Given the description of an element on the screen output the (x, y) to click on. 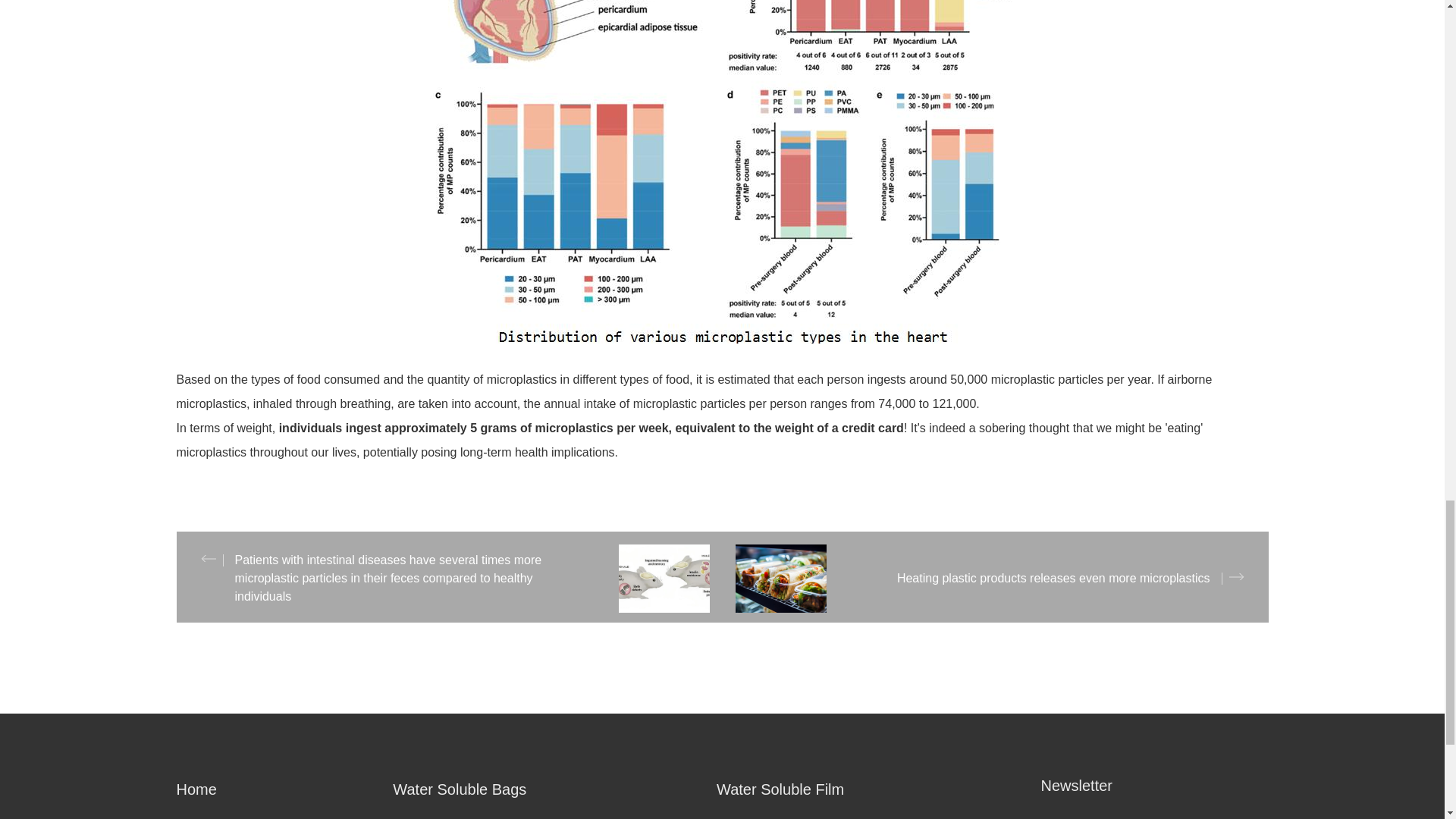
Home (284, 788)
Heating plastic products releases even more microplastics (995, 578)
